Given the description of an element on the screen output the (x, y) to click on. 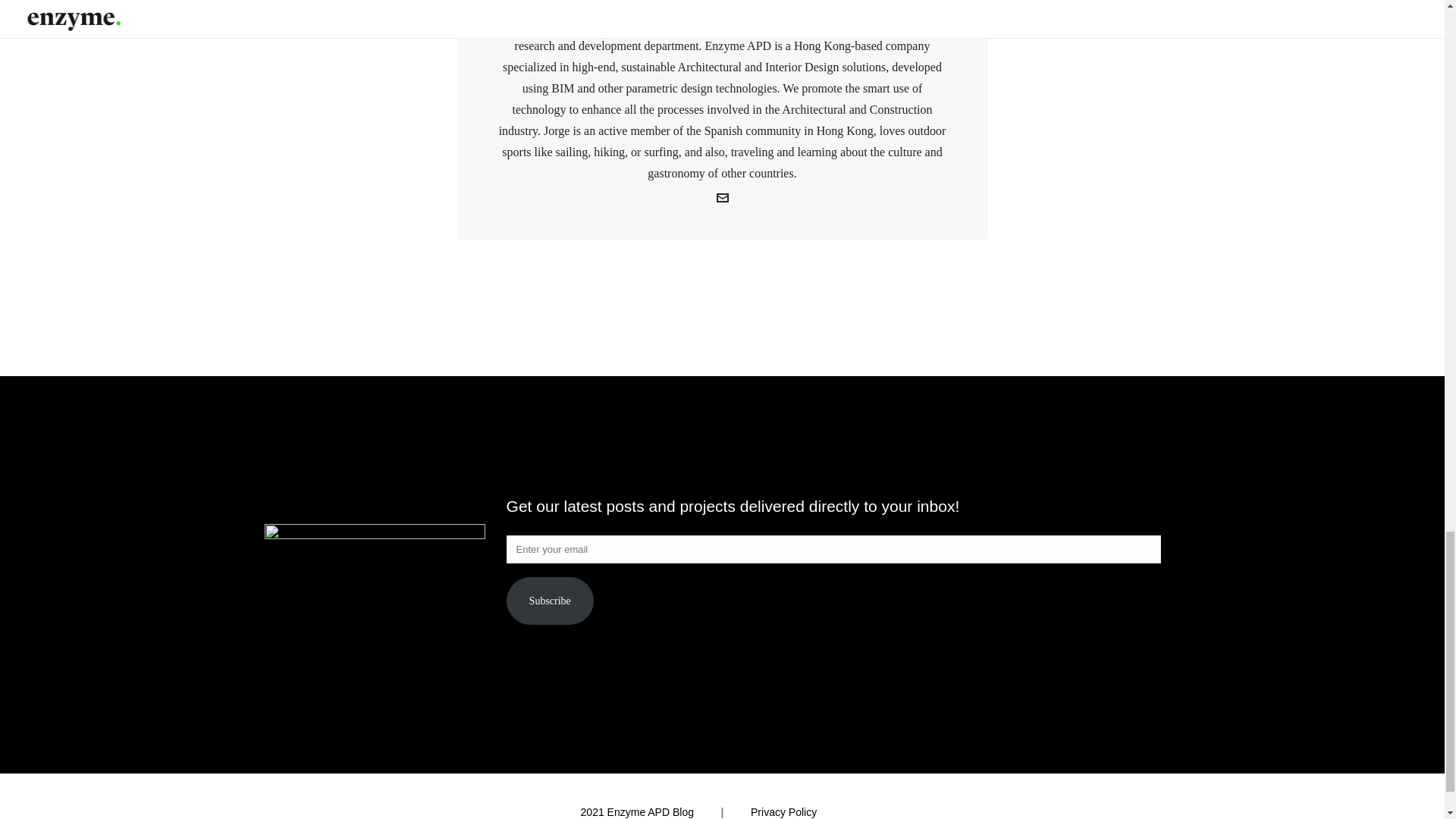
Subscribe (550, 600)
Privacy Policy (783, 811)
Enter your email (833, 549)
Get in touch with me via email (722, 200)
